Given the description of an element on the screen output the (x, y) to click on. 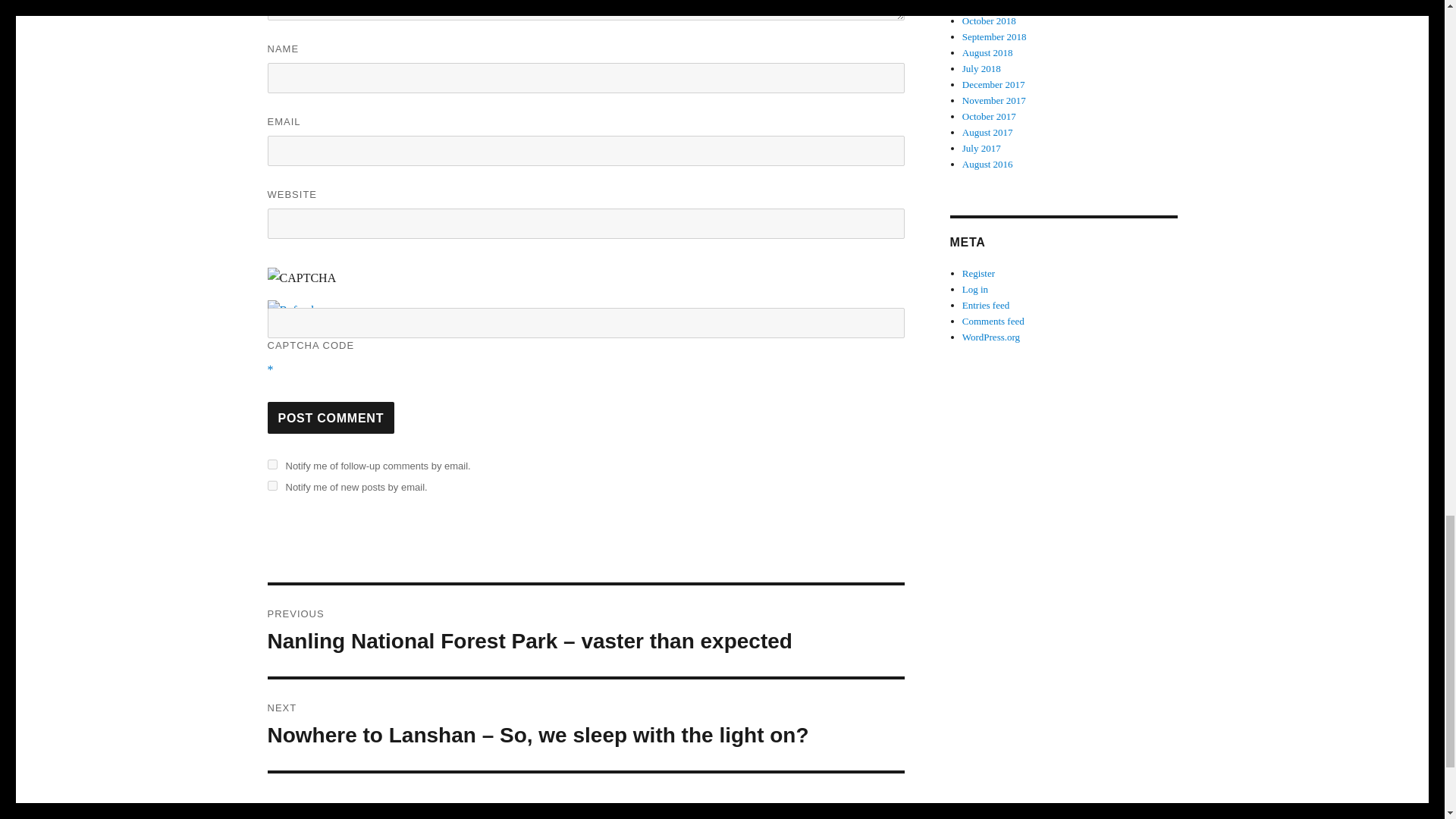
Post Comment (330, 418)
subscribe (271, 485)
subscribe (271, 464)
Post Comment (330, 418)
Refresh (291, 309)
CAPTCHA (316, 283)
